Given the description of an element on the screen output the (x, y) to click on. 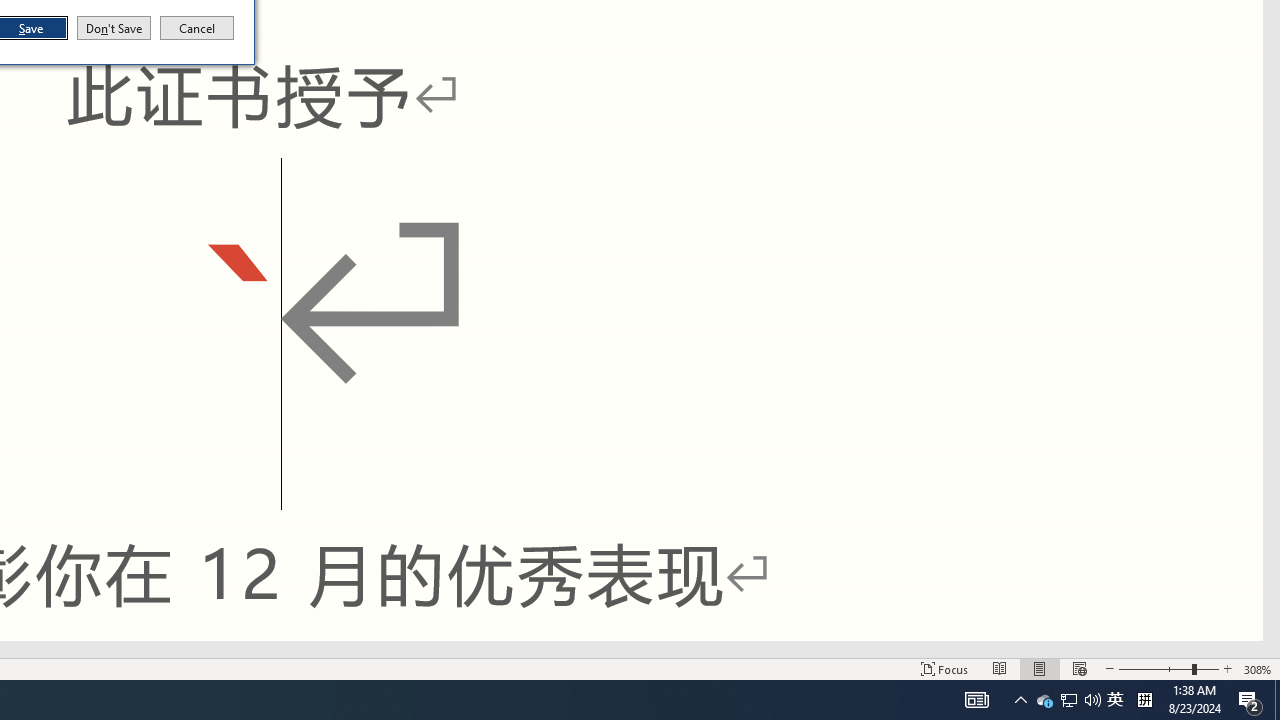
User Promoted Notification Area (1068, 699)
Action Center, 2 new notifications (1250, 699)
